Given the description of an element on the screen output the (x, y) to click on. 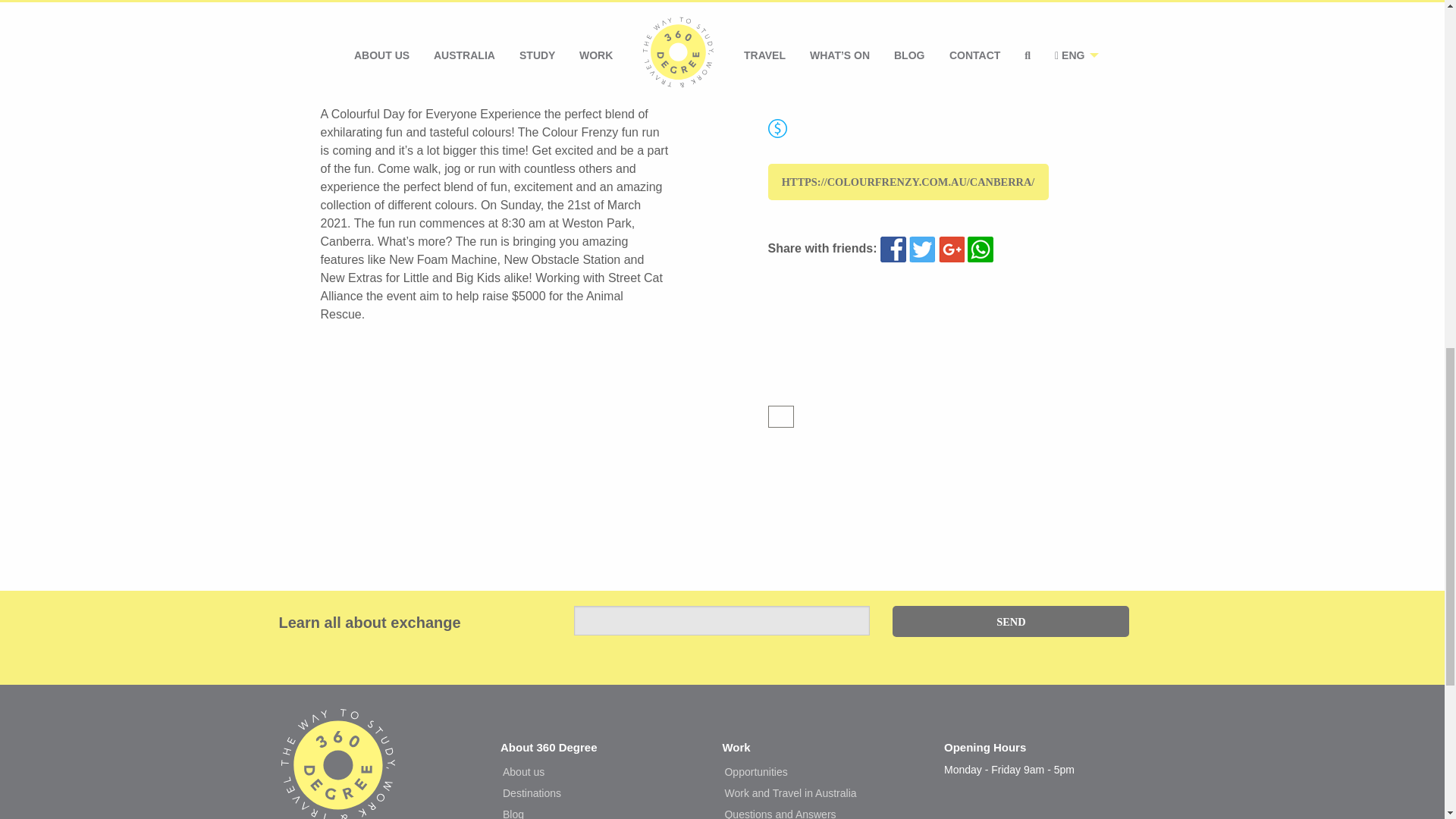
Send (1010, 621)
Send (1010, 621)
Acesse nosso site (338, 779)
